Given the description of an element on the screen output the (x, y) to click on. 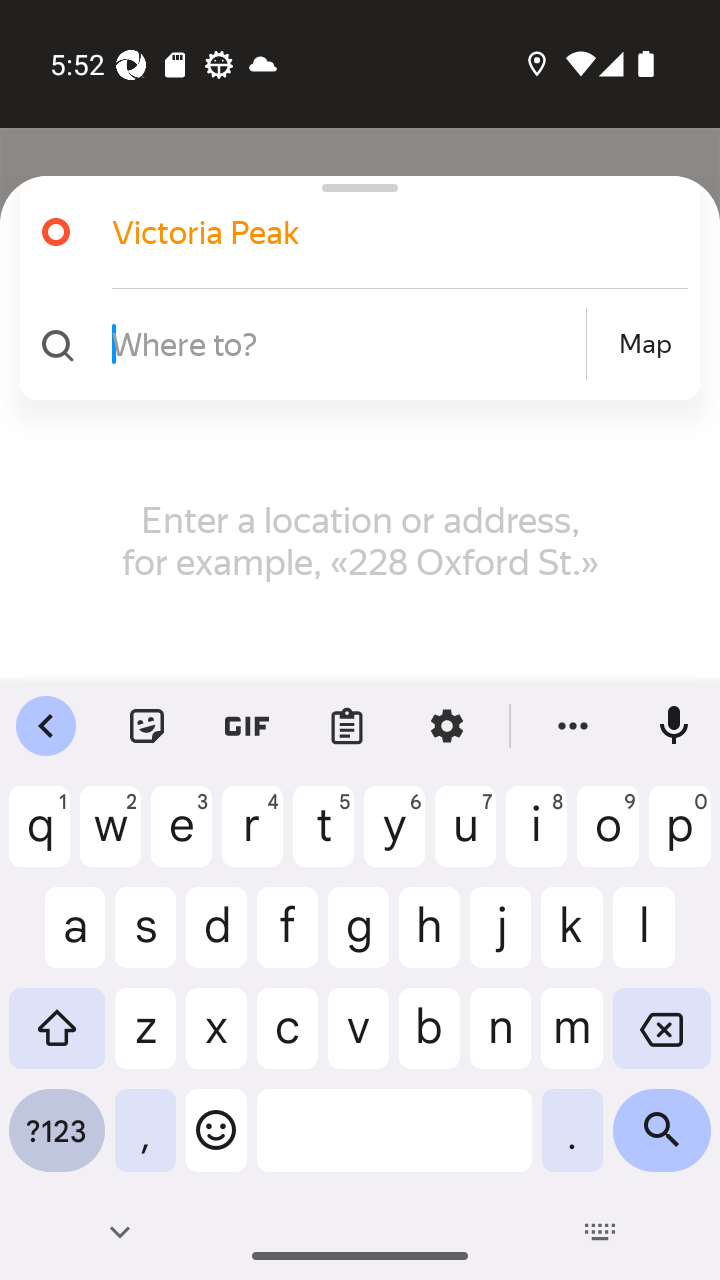
Victoria Peak (352, 232)
Victoria Peak (373, 232)
Where to? Map Map (352, 343)
Map (645, 343)
Where to? (346, 343)
